Given the description of an element on the screen output the (x, y) to click on. 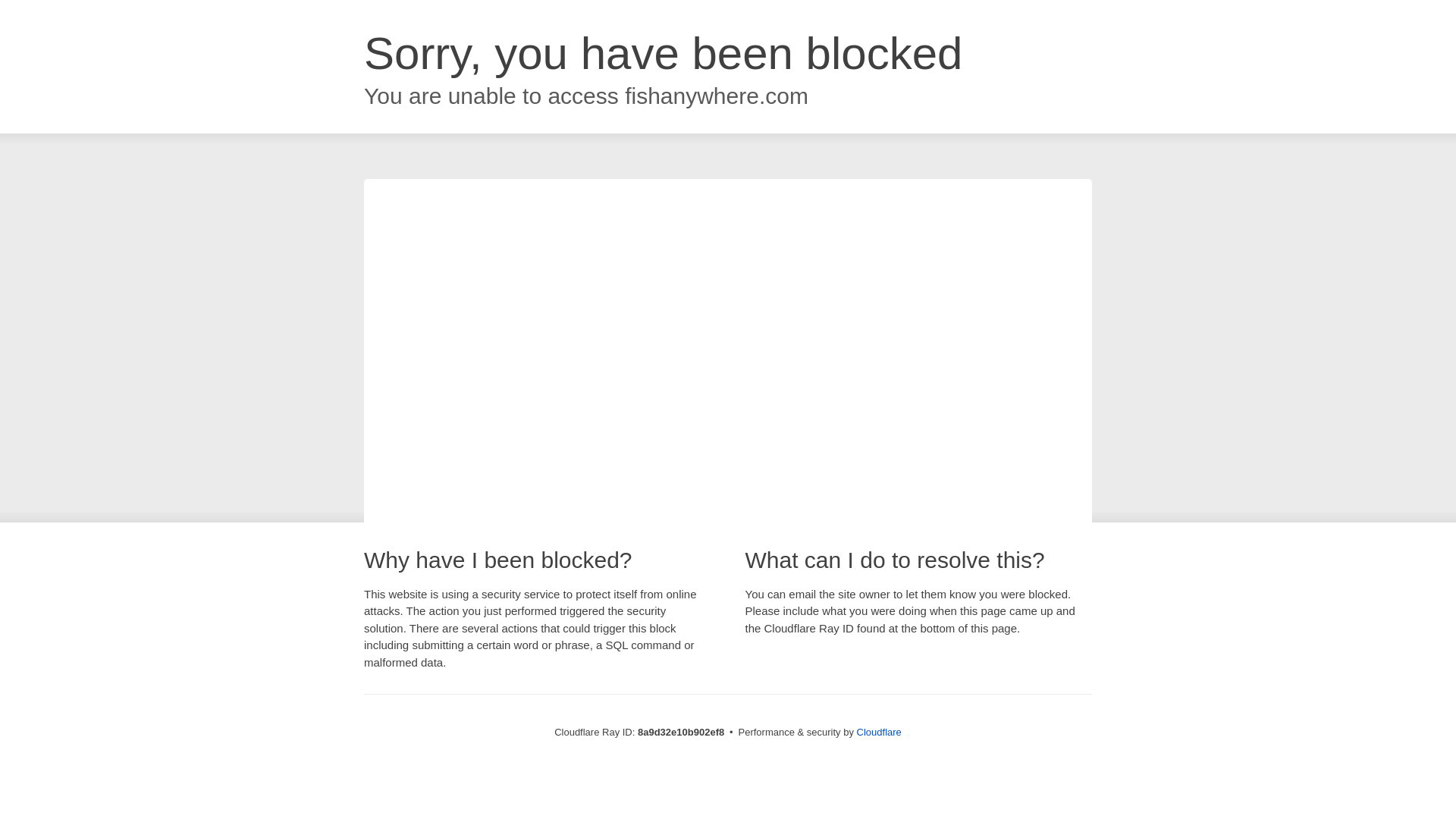
Cloudflare (879, 731)
